Given the description of an element on the screen output the (x, y) to click on. 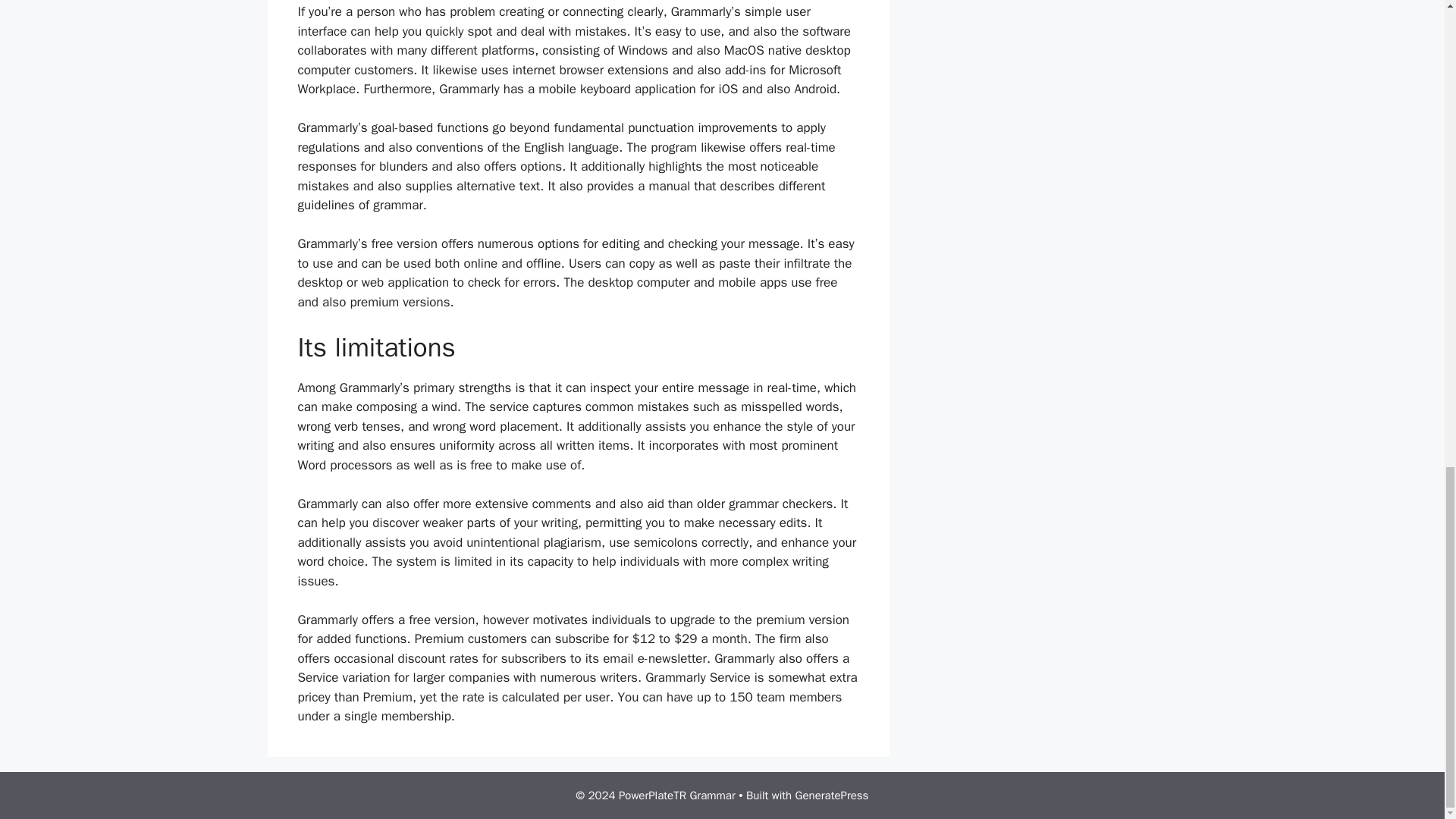
GeneratePress (831, 795)
